Given the description of an element on the screen output the (x, y) to click on. 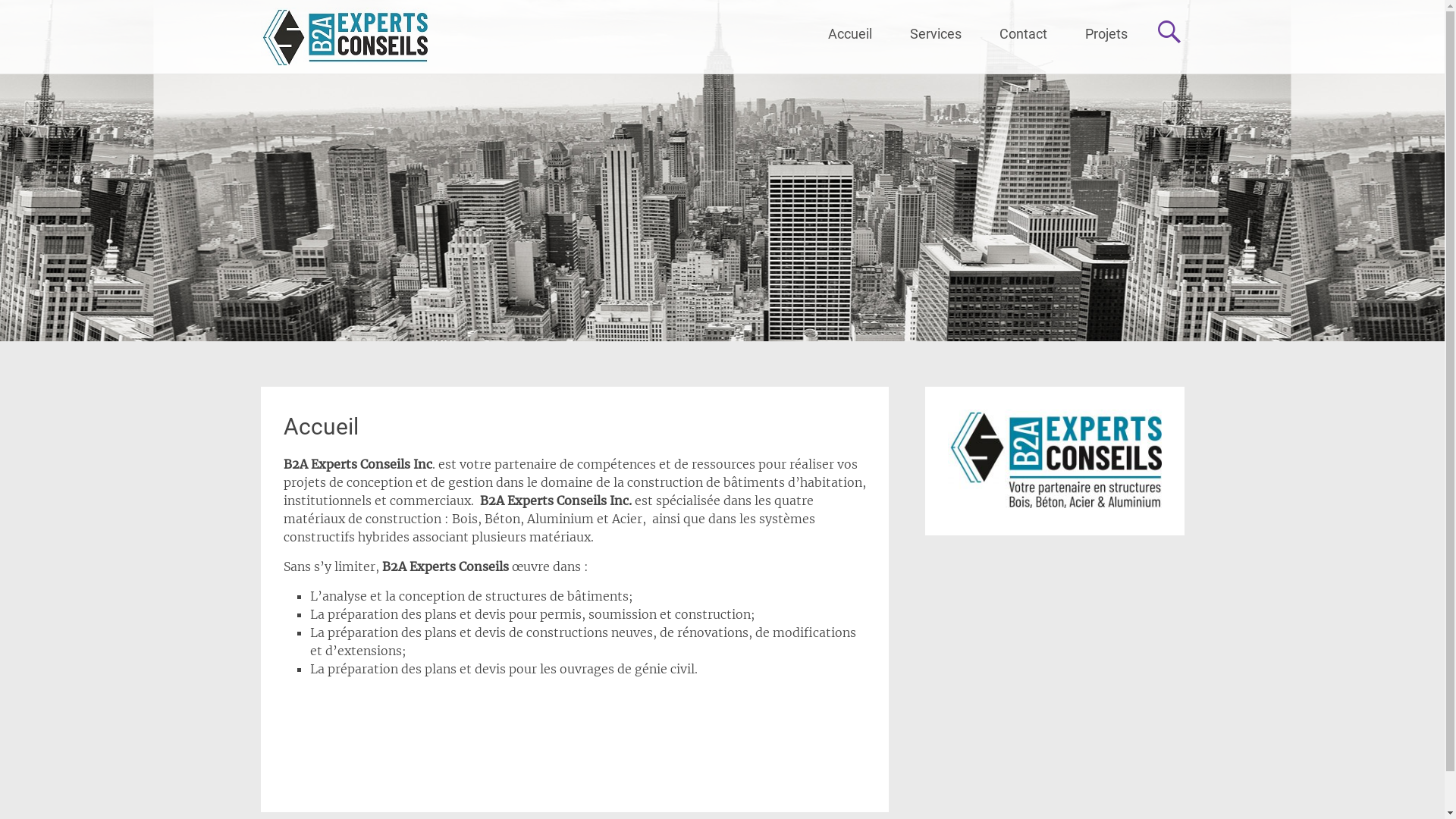
Accueil Element type: text (849, 33)
Accueil Element type: text (320, 426)
Contact Element type: text (1022, 33)
Projets Element type: text (1106, 33)
Services Element type: text (934, 33)
Aller au contenu principal Element type: text (827, 12)
